Given the description of an element on the screen output the (x, y) to click on. 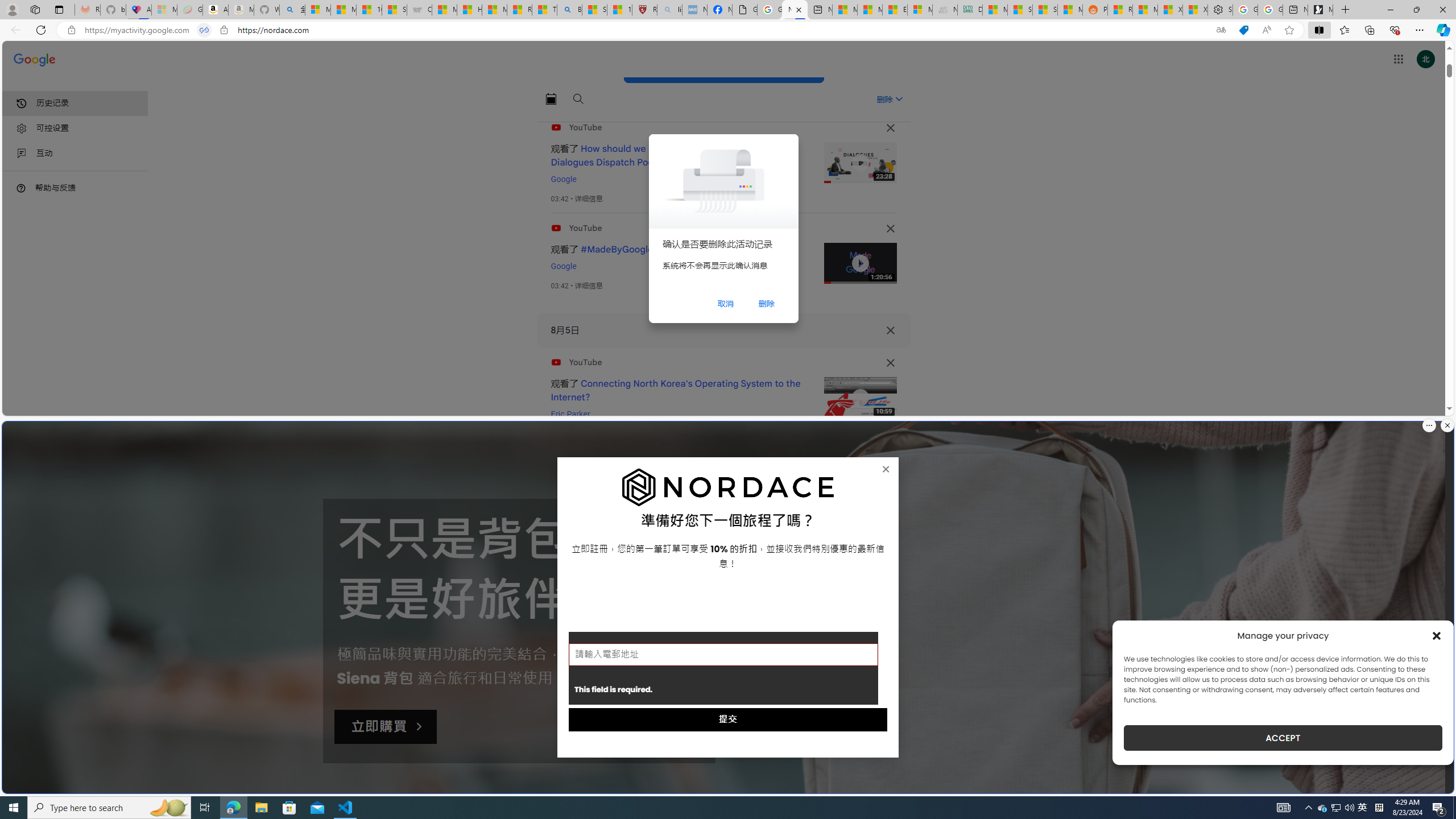
Class: TjcpUd NMm5M (889, 362)
AutomationID: input_5_1 (723, 653)
More options. (1428, 425)
Class: IVR0f NMm5M (860, 397)
